Given the description of an element on the screen output the (x, y) to click on. 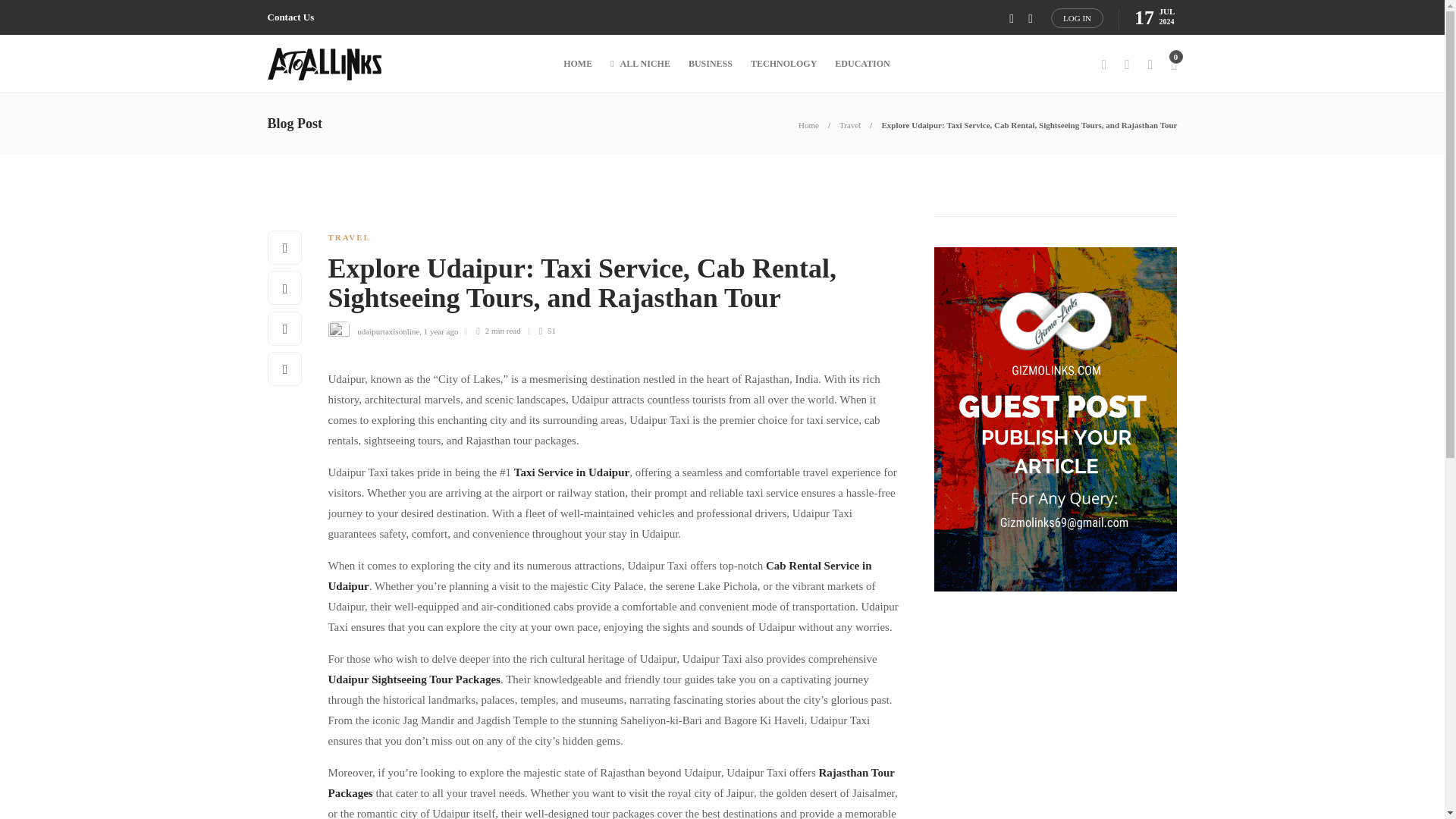
TECHNOLOGY (783, 63)
udaipurtaxisonline (387, 329)
1 year ago (440, 329)
LOG IN (1077, 17)
ALL NICHE (639, 63)
TRAVEL (348, 236)
0 (1173, 63)
HOME (577, 63)
Contact Us (290, 17)
EDUCATION (861, 63)
Home (807, 124)
Home (807, 124)
Travel (850, 124)
